Given the description of an element on the screen output the (x, y) to click on. 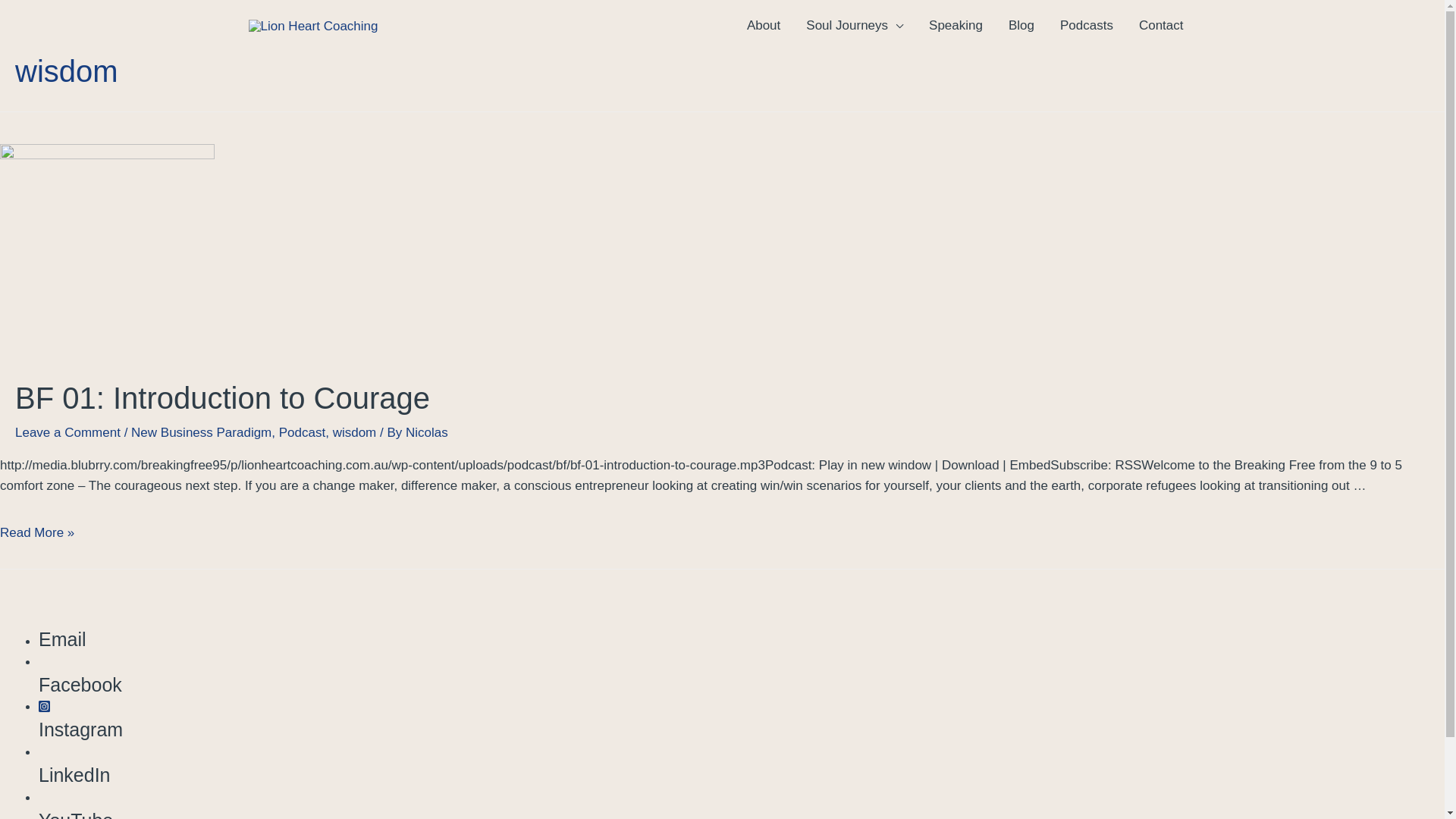
Blog Element type: text (1021, 25)
Nicolas Element type: text (426, 432)
New Business Paradigm Element type: text (201, 432)
Contact Element type: text (1161, 25)
BF 01: Introduction to Courage Element type: text (222, 397)
Email Element type: text (741, 639)
Leave a Comment Element type: text (67, 432)
About Element type: text (763, 25)
Soul Journeys Element type: text (854, 25)
LinkedIn Element type: text (741, 764)
Podcasts Element type: text (1086, 25)
Facebook Element type: text (741, 674)
Instagram Element type: text (741, 719)
Podcast Element type: text (302, 432)
wisdom Element type: text (354, 432)
Speaking Element type: text (955, 25)
